Given the description of an element on the screen output the (x, y) to click on. 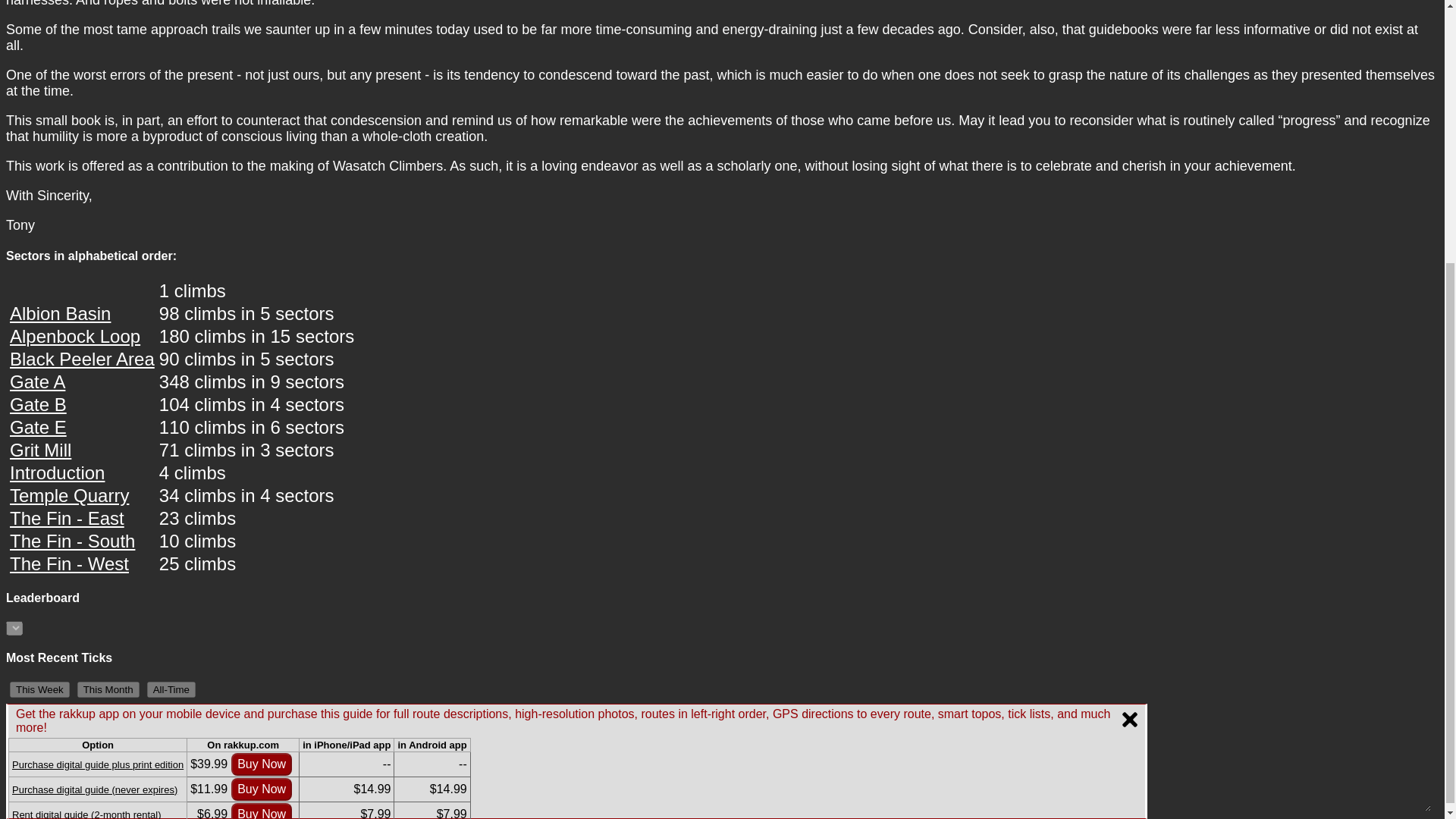
Purchase digital guide plus print edition (97, 380)
Alpenbock Loop (74, 335)
This Week (39, 689)
Buy Now (261, 381)
The Fin - East (66, 517)
Introduction (57, 472)
Grit Mill (40, 449)
The Fin - West (69, 563)
Buy Now (261, 405)
Buy Now (261, 431)
Gate A (37, 381)
This Month (108, 689)
Gate E (38, 426)
Albion Basin (60, 313)
Temple Quarry (69, 495)
